Given the description of an element on the screen output the (x, y) to click on. 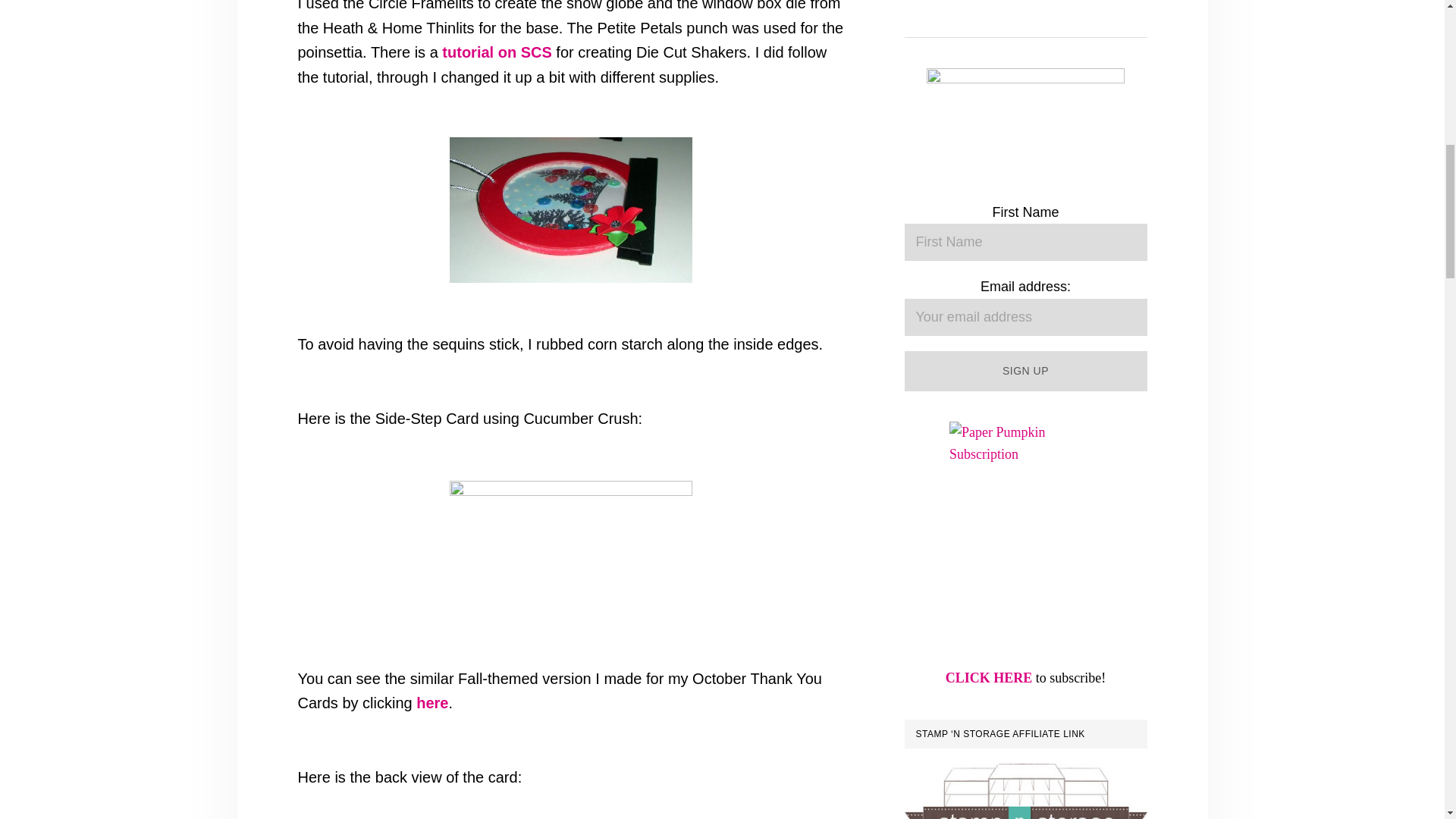
tutorial on SCS (496, 52)
here (432, 702)
Sign up (1025, 371)
